Given the description of an element on the screen output the (x, y) to click on. 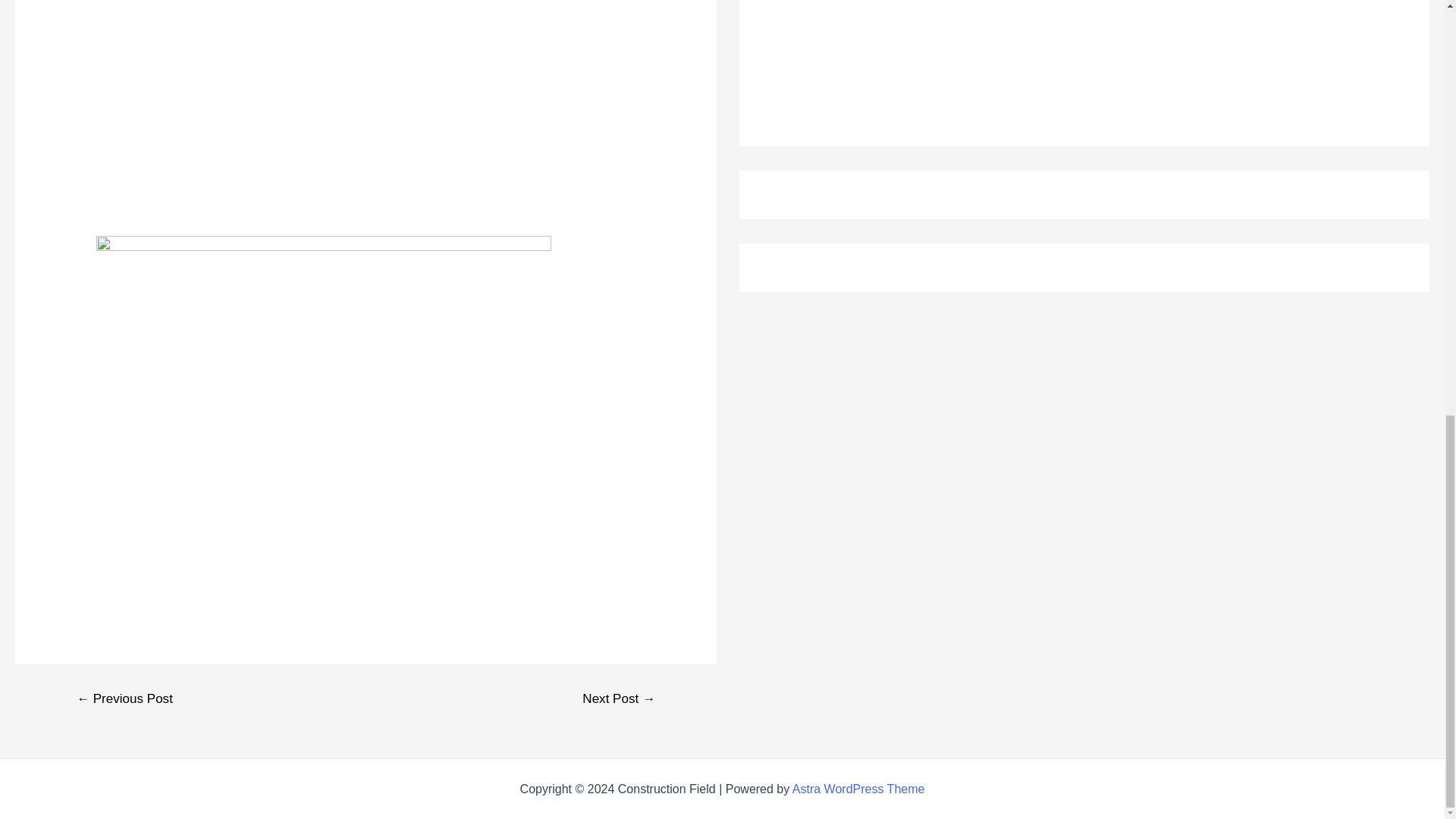
Astra WordPress Theme (858, 788)
Casa Cardenas 3 (323, 108)
Advertisement (876, 56)
